Given the description of an element on the screen output the (x, y) to click on. 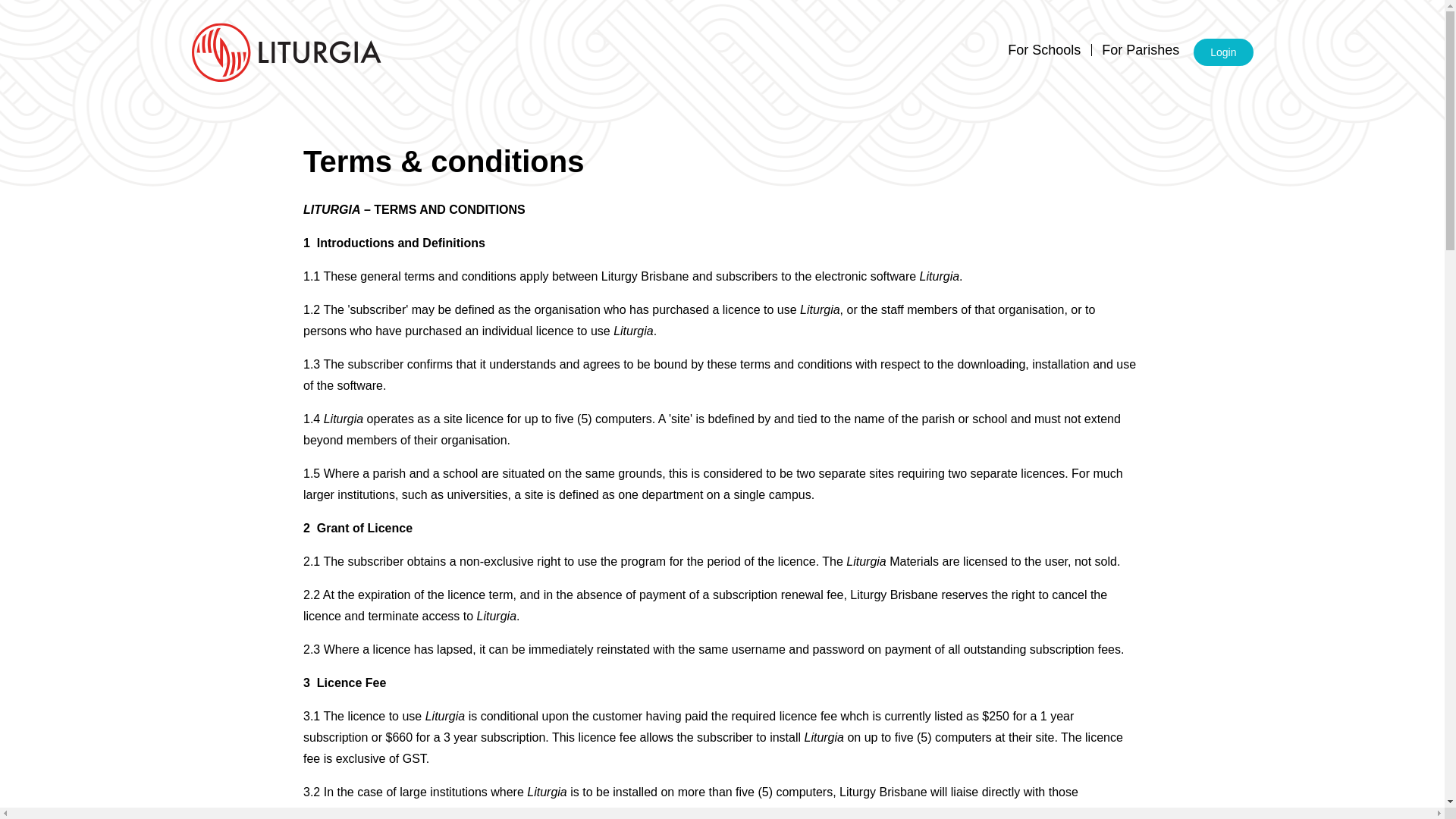
For Parishes (1139, 50)
For Schools (1043, 50)
Login (1222, 52)
